Given the description of an element on the screen output the (x, y) to click on. 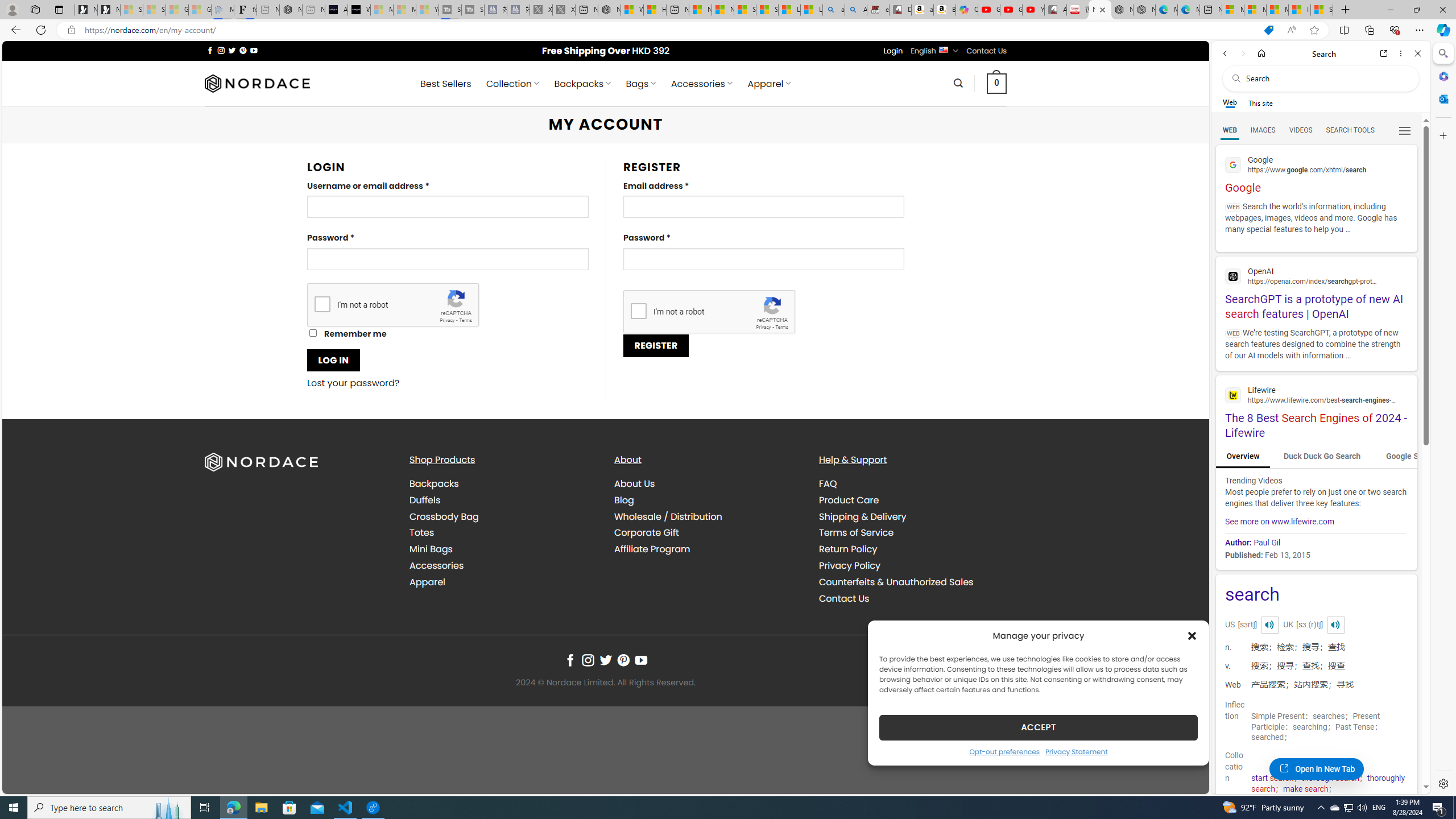
Search the web (1326, 78)
Forward (1242, 53)
OpenAI (1315, 275)
Terms (781, 326)
Nordace - Nordace has arrived Hong Kong (1144, 9)
Privacy Policy (849, 565)
